Given the description of an element on the screen output the (x, y) to click on. 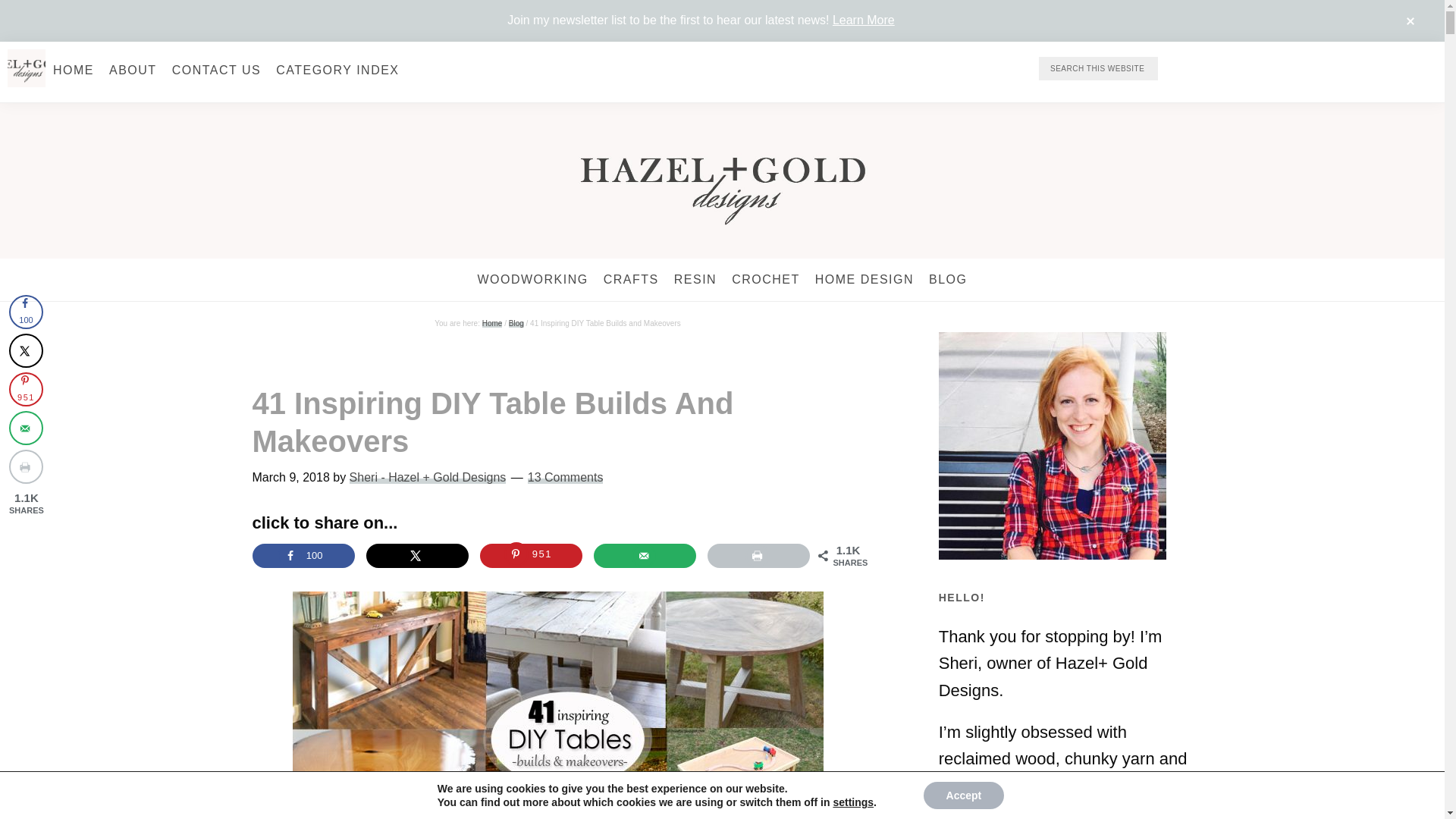
Print this webpage (758, 555)
Send over email (644, 555)
Share on Facebook (302, 555)
Share on X (417, 555)
CATEGORY INDEX (336, 70)
WOODWORKING (531, 279)
ABOUT (132, 70)
Save to Pinterest (531, 555)
Learn More (863, 19)
HOME (73, 70)
CONTACT US (216, 70)
